Given the description of an element on the screen output the (x, y) to click on. 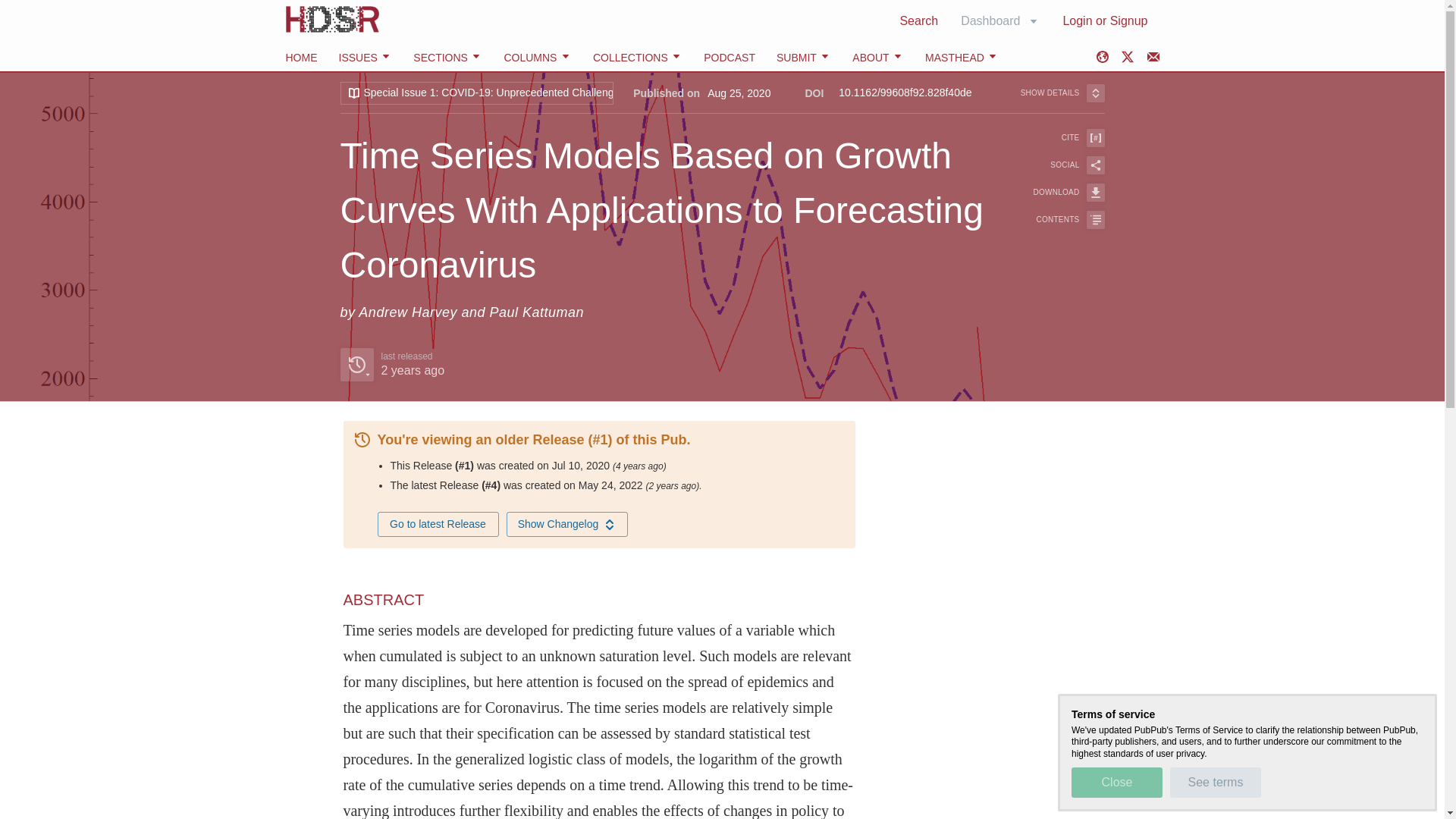
Go to latest Release (438, 524)
2022-05-23 19:56 (673, 485)
Login or Signup (1104, 20)
PODCAST (729, 57)
2020-07-09 21:08 (639, 466)
See terms (1215, 782)
Close (1116, 782)
SHOW DETAILS (1062, 93)
CONTENTS (1058, 219)
